Given the description of an element on the screen output the (x, y) to click on. 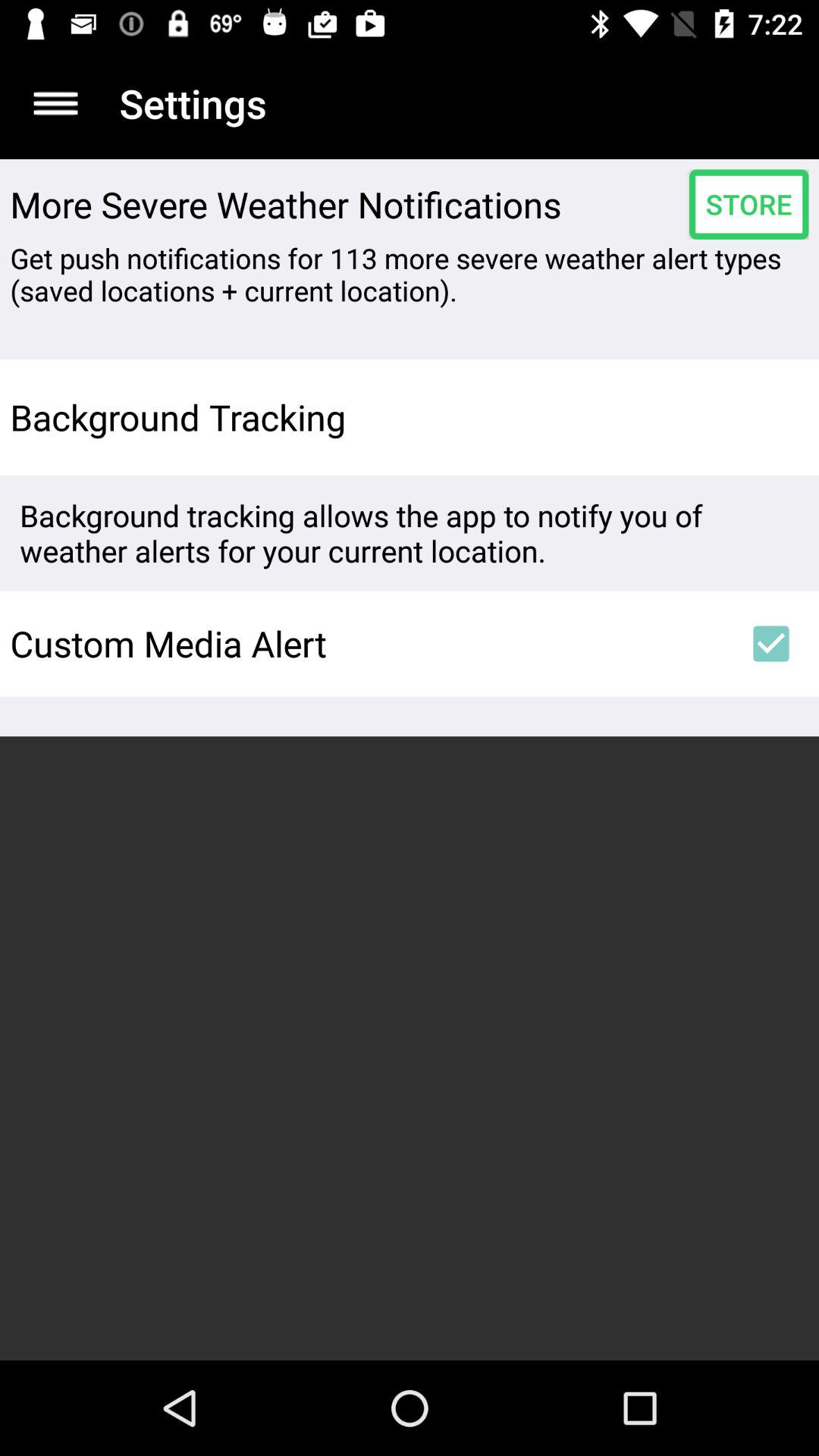
click icon next to custom media alert (771, 643)
